Given the description of an element on the screen output the (x, y) to click on. 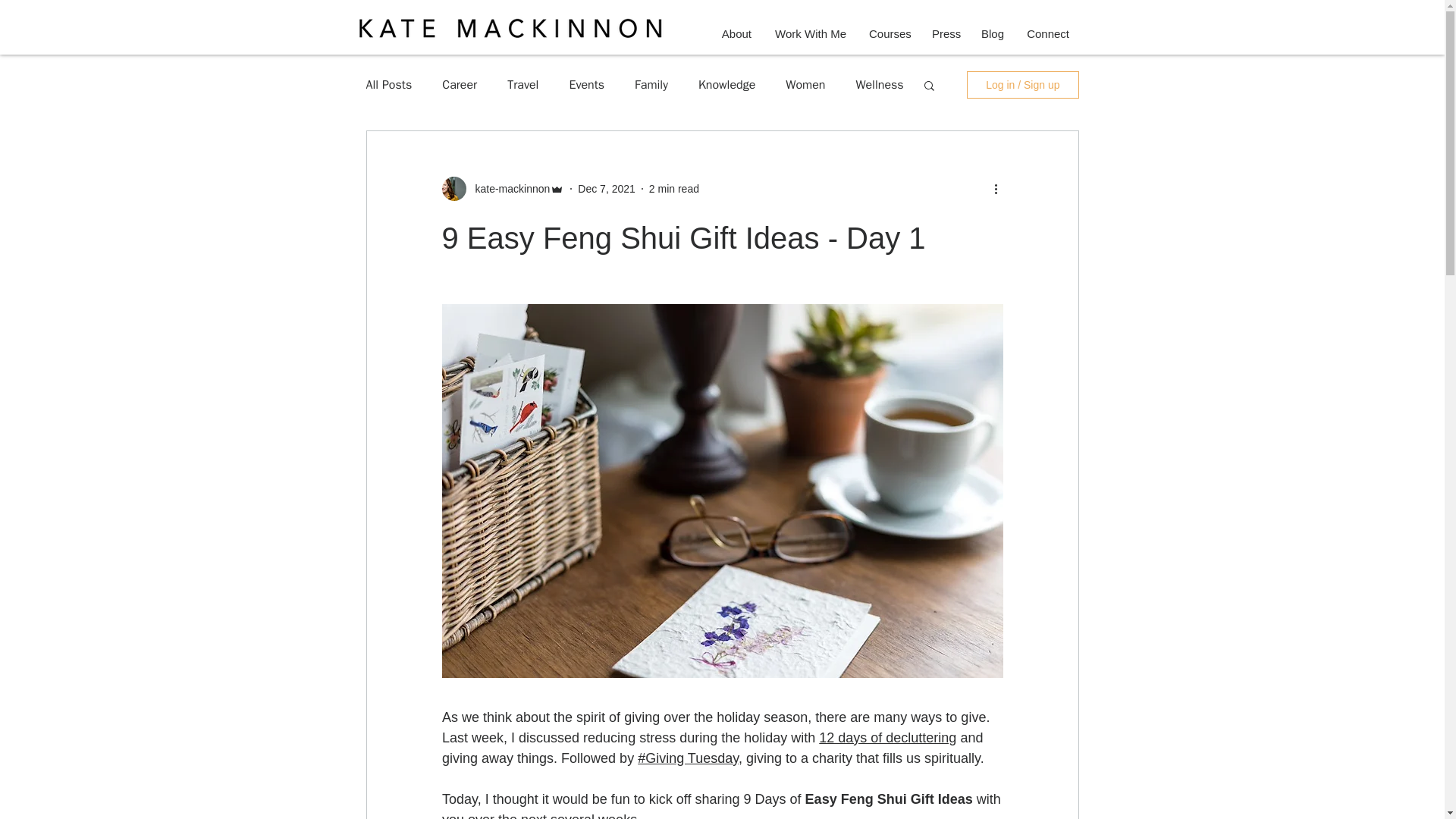
kate-mackinnon (507, 188)
Career (459, 84)
12 days of decluttering (887, 737)
2 min read (673, 187)
Work With Me (809, 33)
Wellness (879, 84)
Knowledge (726, 84)
Women (805, 84)
Press (944, 33)
Travel (522, 84)
All Posts (388, 84)
Events (586, 84)
Family (651, 84)
Dec 7, 2021 (606, 187)
Connect (1047, 33)
